Given the description of an element on the screen output the (x, y) to click on. 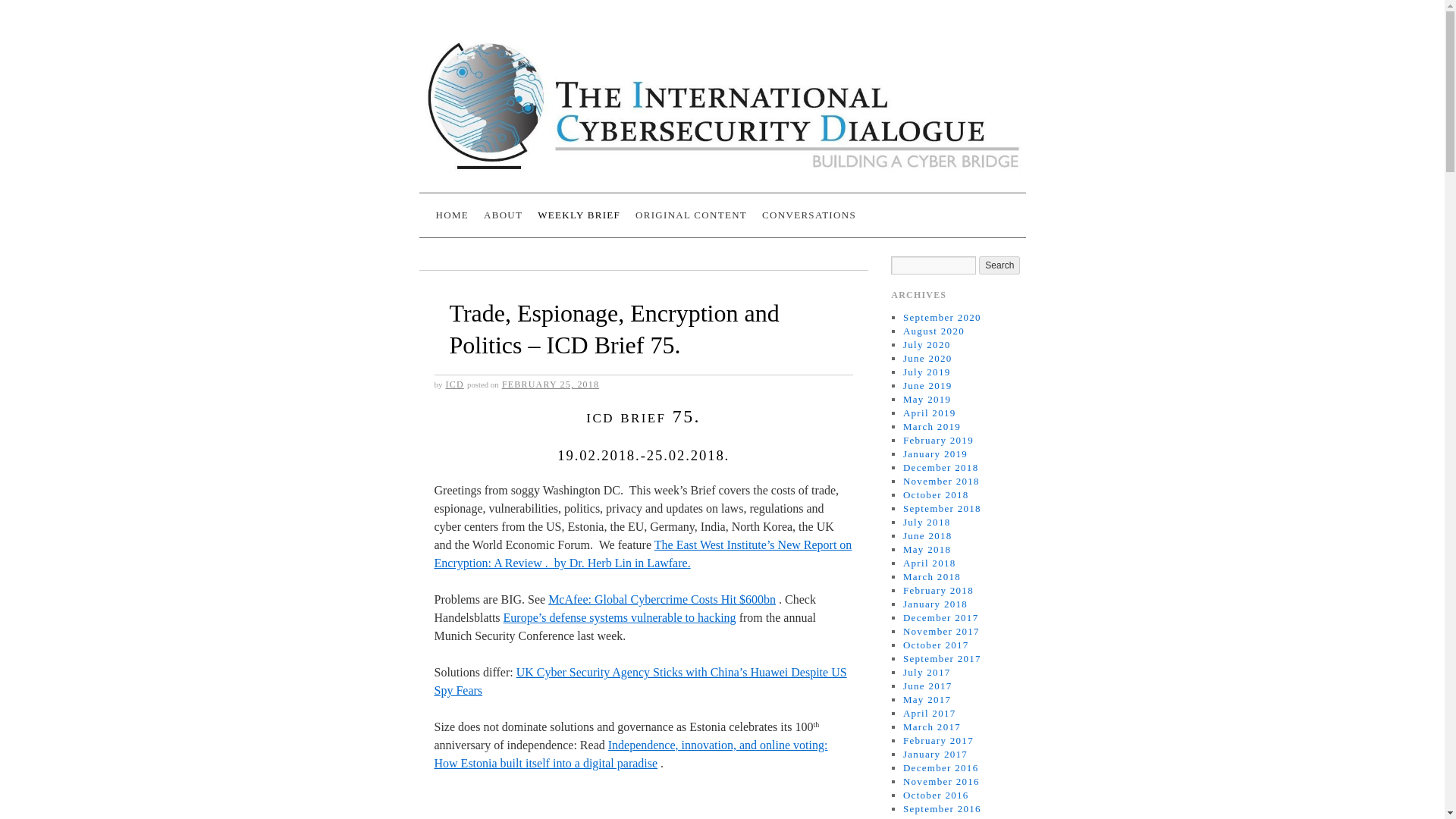
ABOUT (502, 215)
WEEKLY BRIEF (578, 215)
Search (999, 265)
HOME (452, 215)
5:53 pm (550, 384)
ICD (454, 384)
THE INTERNATIONAL CYBERSECURITY DIALOGUE (737, 205)
FEBRUARY 25, 2018 (550, 384)
ORIGINAL CONTENT (690, 215)
